Given the description of an element on the screen output the (x, y) to click on. 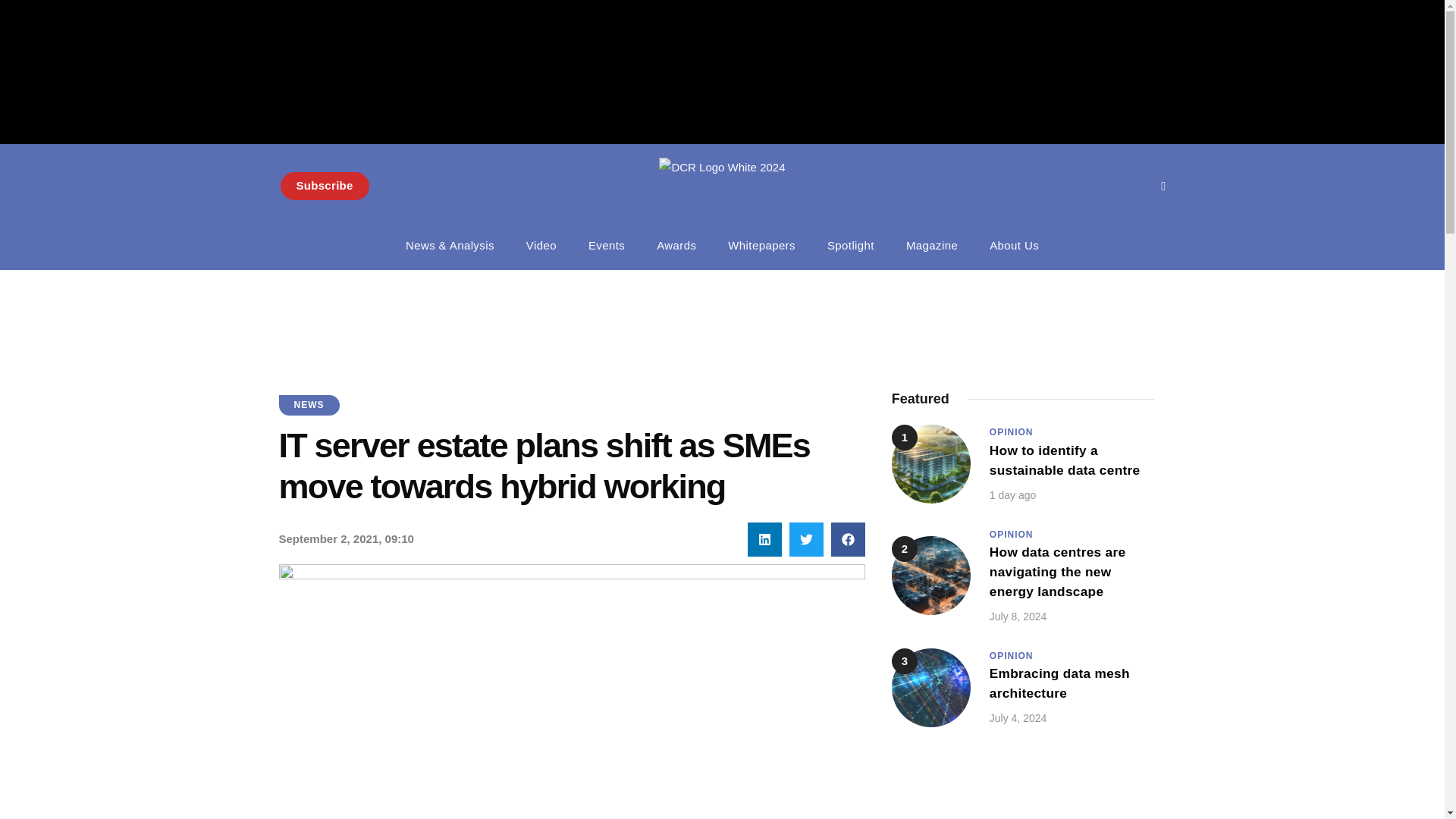
Magazine (931, 245)
About Us (1014, 245)
Whitepapers (760, 245)
Awards (675, 245)
Spotlight (849, 245)
Events (606, 245)
DCR logo-white-2024-v1 (325, 185)
Video (721, 186)
